Given the description of an element on the screen output the (x, y) to click on. 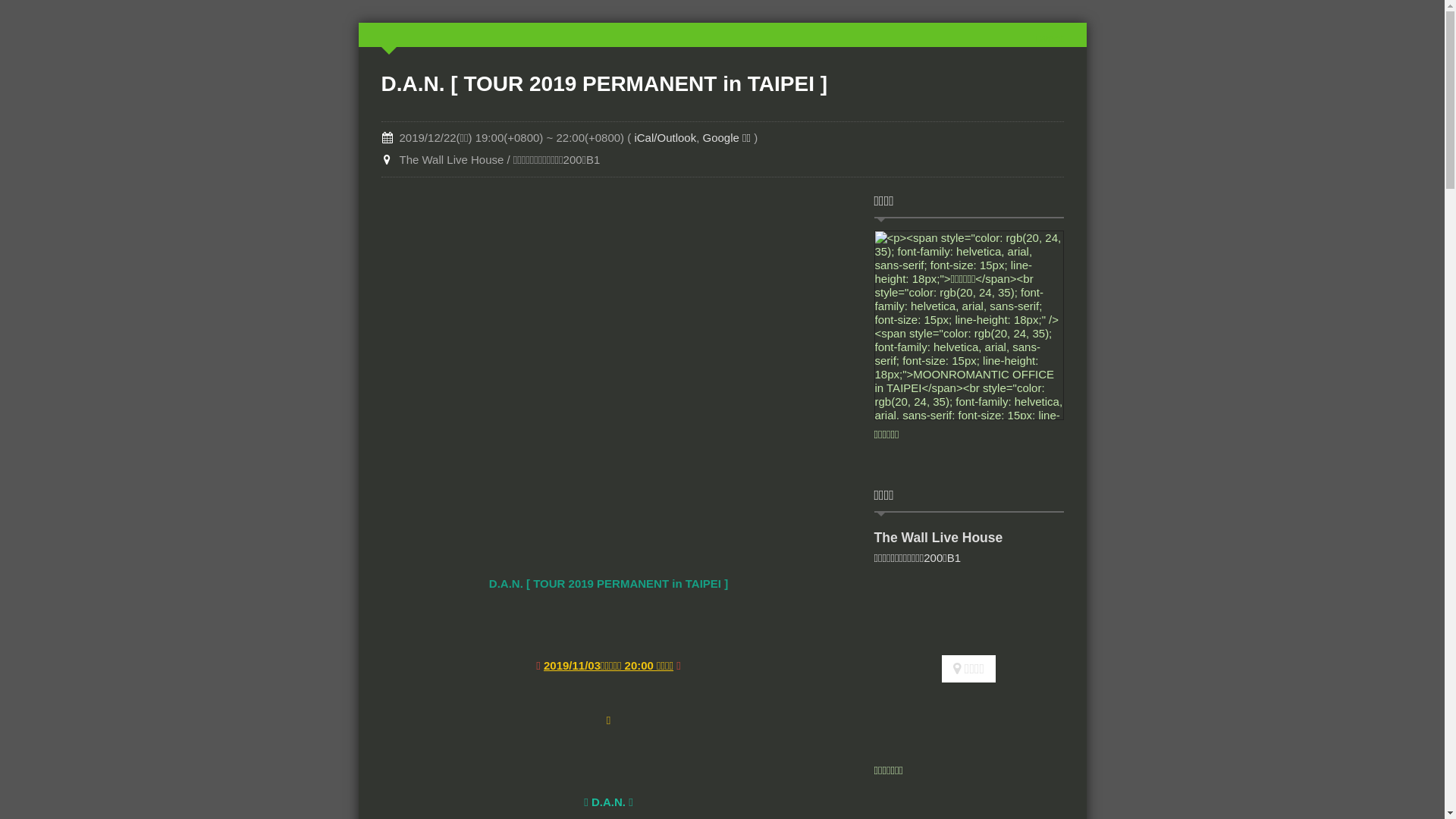
Tweet Element type: text (1047, 37)
iCal/Outlook Element type: text (664, 137)
